Given the description of an element on the screen output the (x, y) to click on. 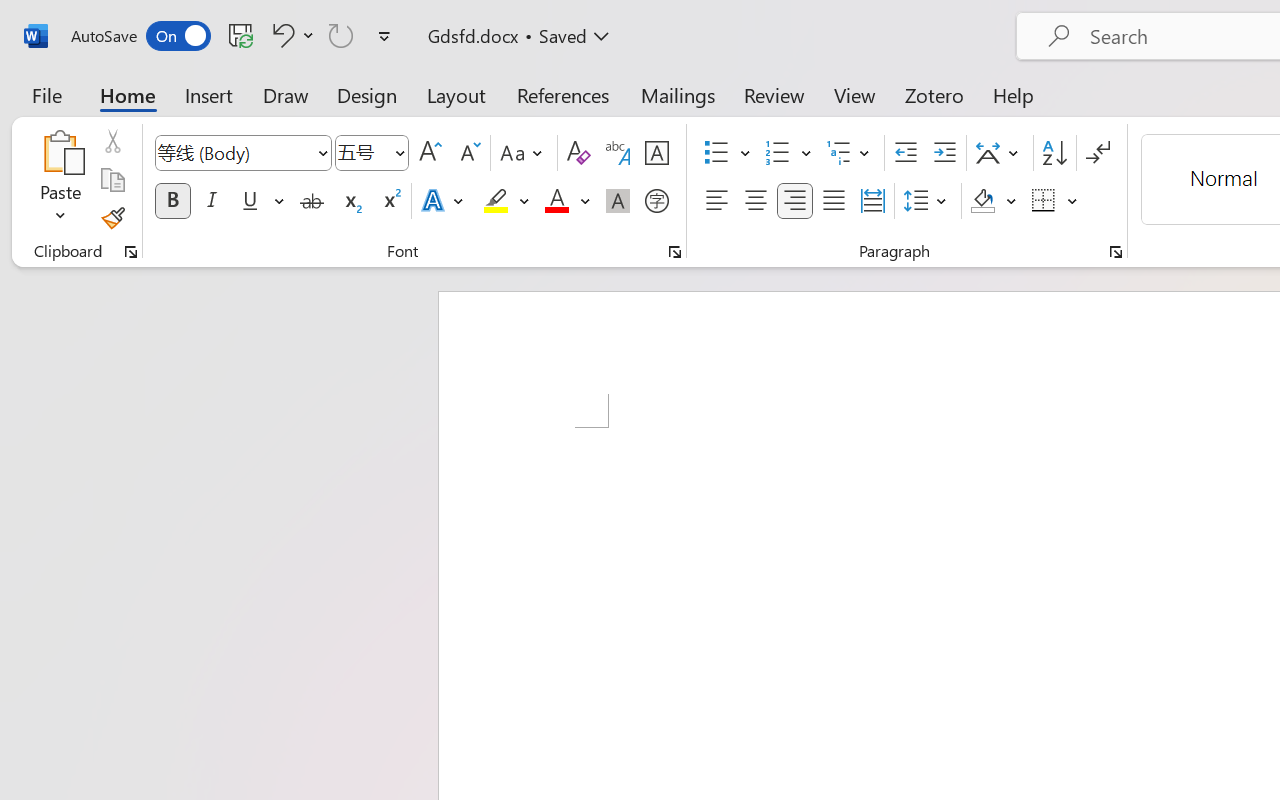
Increase Indent (944, 153)
Asian Layout (1000, 153)
Undo Paragraph Alignment (280, 35)
Text Highlight Color Yellow (495, 201)
Multilevel List (850, 153)
Shading (993, 201)
Undo Paragraph Alignment (290, 35)
